Given the description of an element on the screen output the (x, y) to click on. 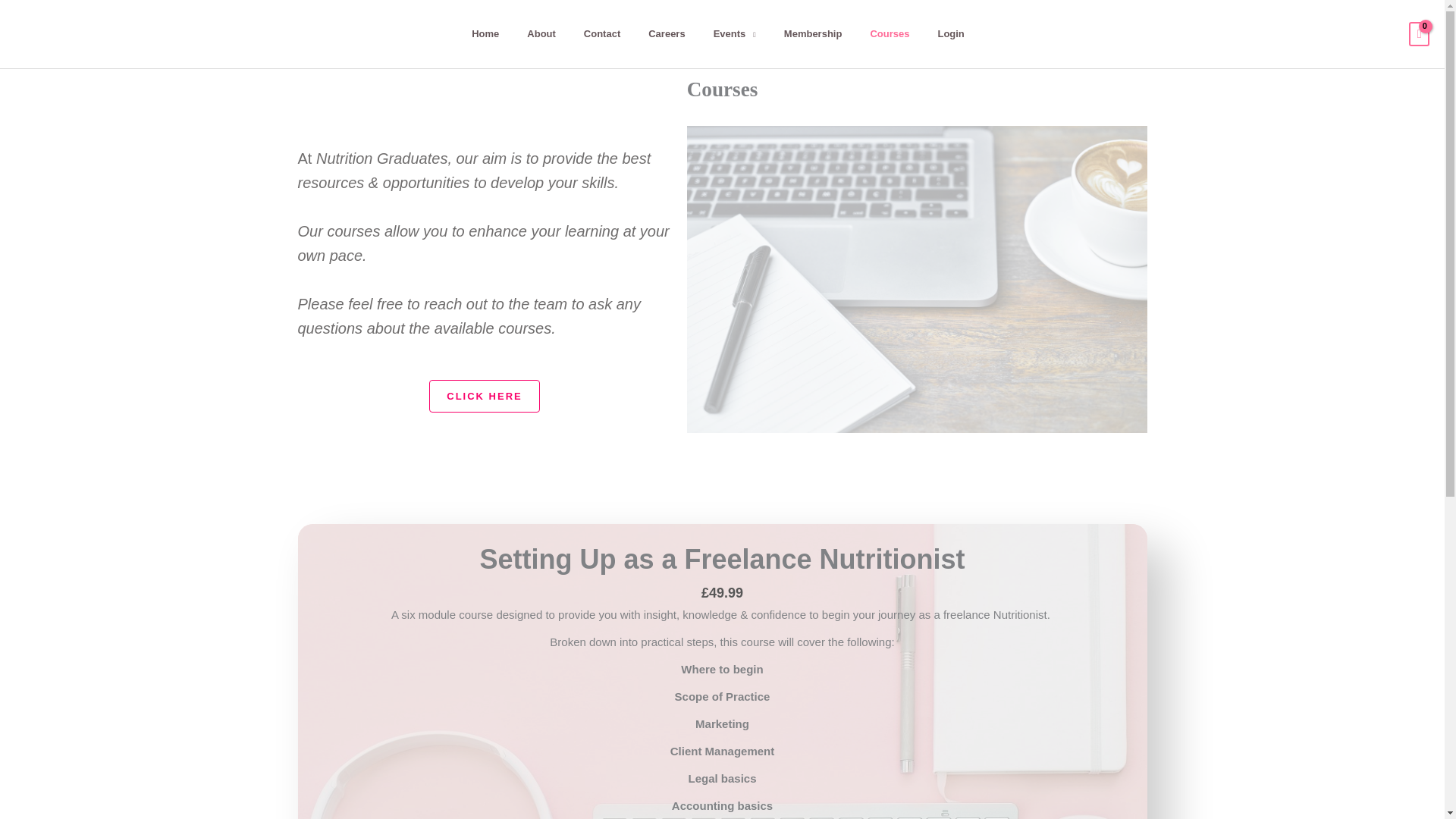
Careers (671, 33)
About (544, 33)
Events (738, 33)
Courses (893, 33)
Contact (606, 33)
Membership (817, 33)
Login (954, 33)
CLICK HERE (483, 396)
Home (488, 33)
